Given the description of an element on the screen output the (x, y) to click on. 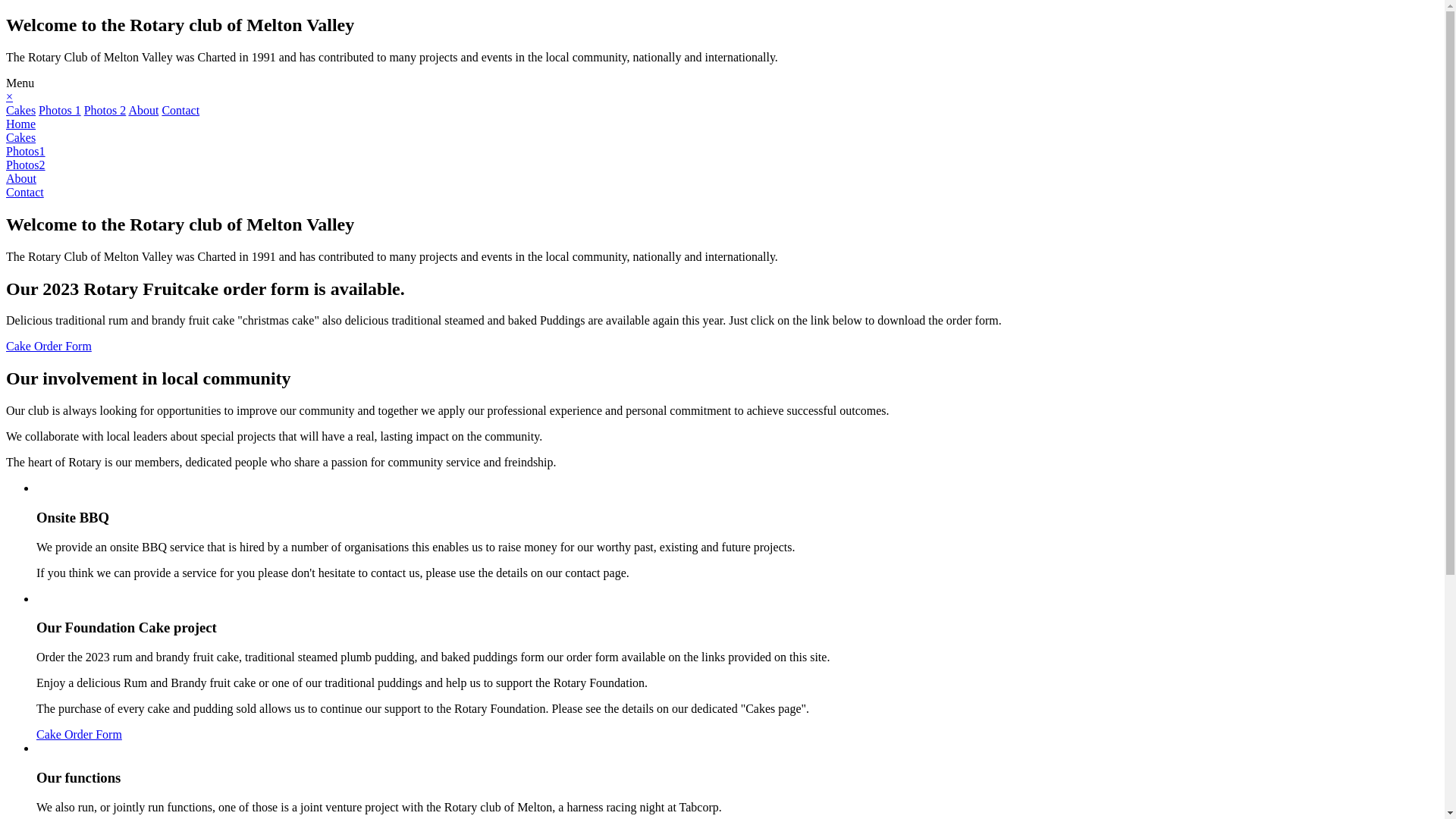
About Element type: text (21, 178)
Cake Order Form Element type: text (48, 345)
Cakes Element type: text (20, 109)
Photos 2 Element type: text (105, 109)
About Element type: text (143, 109)
Photos 1 Element type: text (59, 109)
Home Element type: text (20, 123)
Photos1 Element type: text (25, 150)
Contact Element type: text (24, 191)
Contact Element type: text (180, 109)
Photos2 Element type: text (25, 164)
Menu Element type: text (20, 82)
Cake Order Form Element type: text (79, 734)
Cakes Element type: text (20, 137)
